Given the description of an element on the screen output the (x, y) to click on. 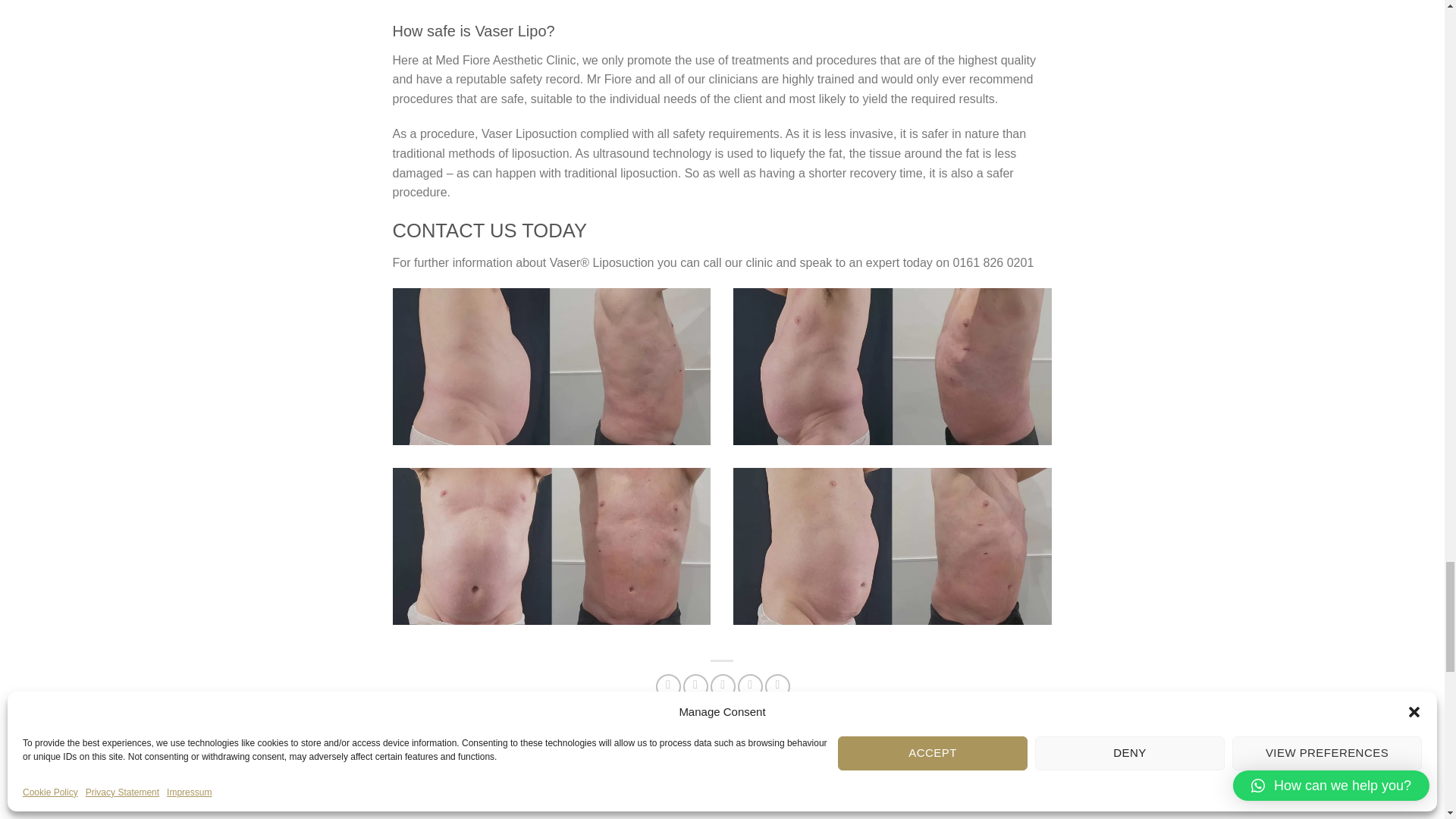
Share on Twitter (694, 686)
Share on Facebook (668, 686)
Pin on Pinterest (750, 686)
Email to a Friend (722, 686)
Share on LinkedIn (777, 686)
Permalink to Vaser Liposuction in Cheshire (834, 739)
